Given the description of an element on the screen output the (x, y) to click on. 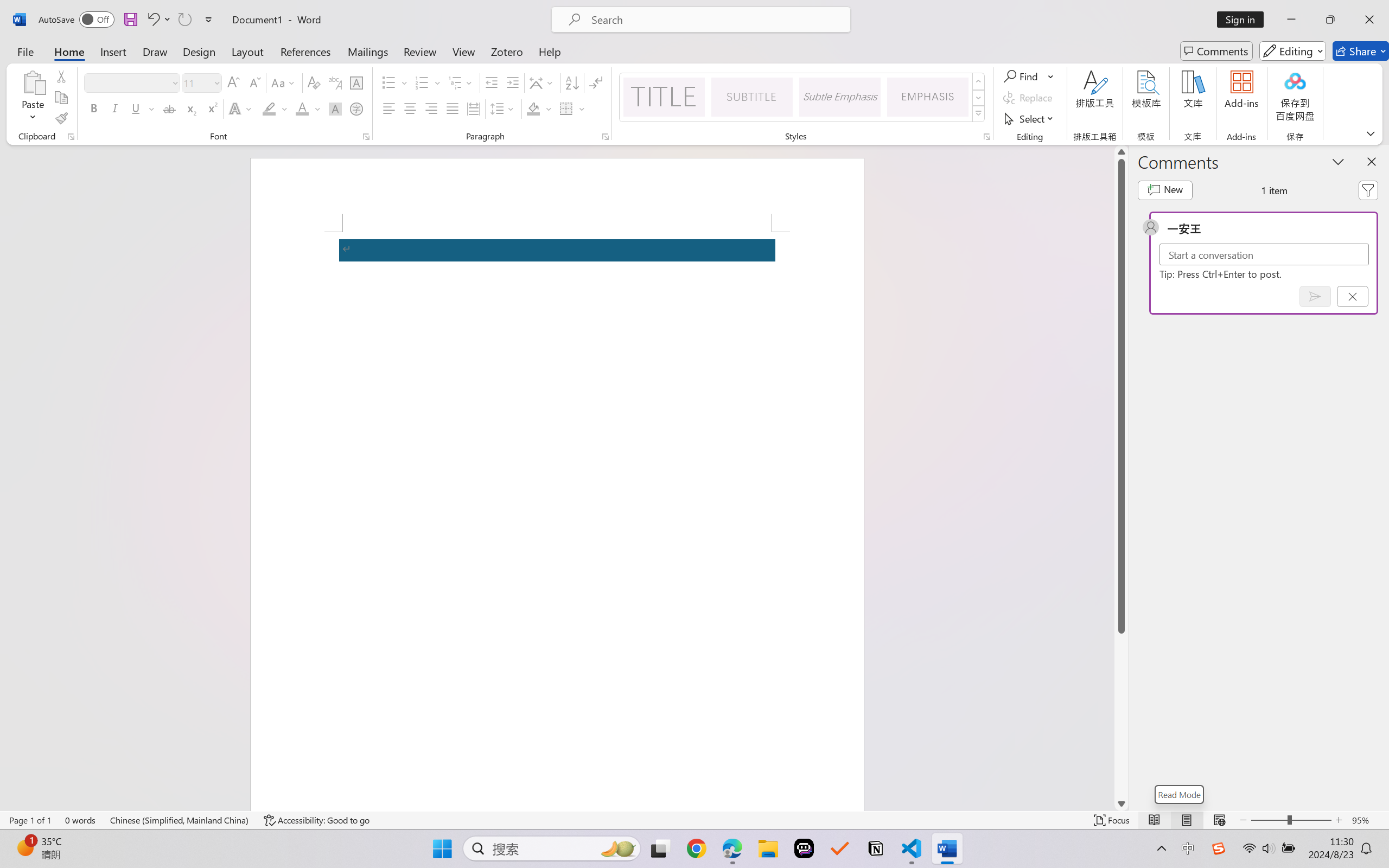
New comment (1165, 190)
